Given the description of an element on the screen output the (x, y) to click on. 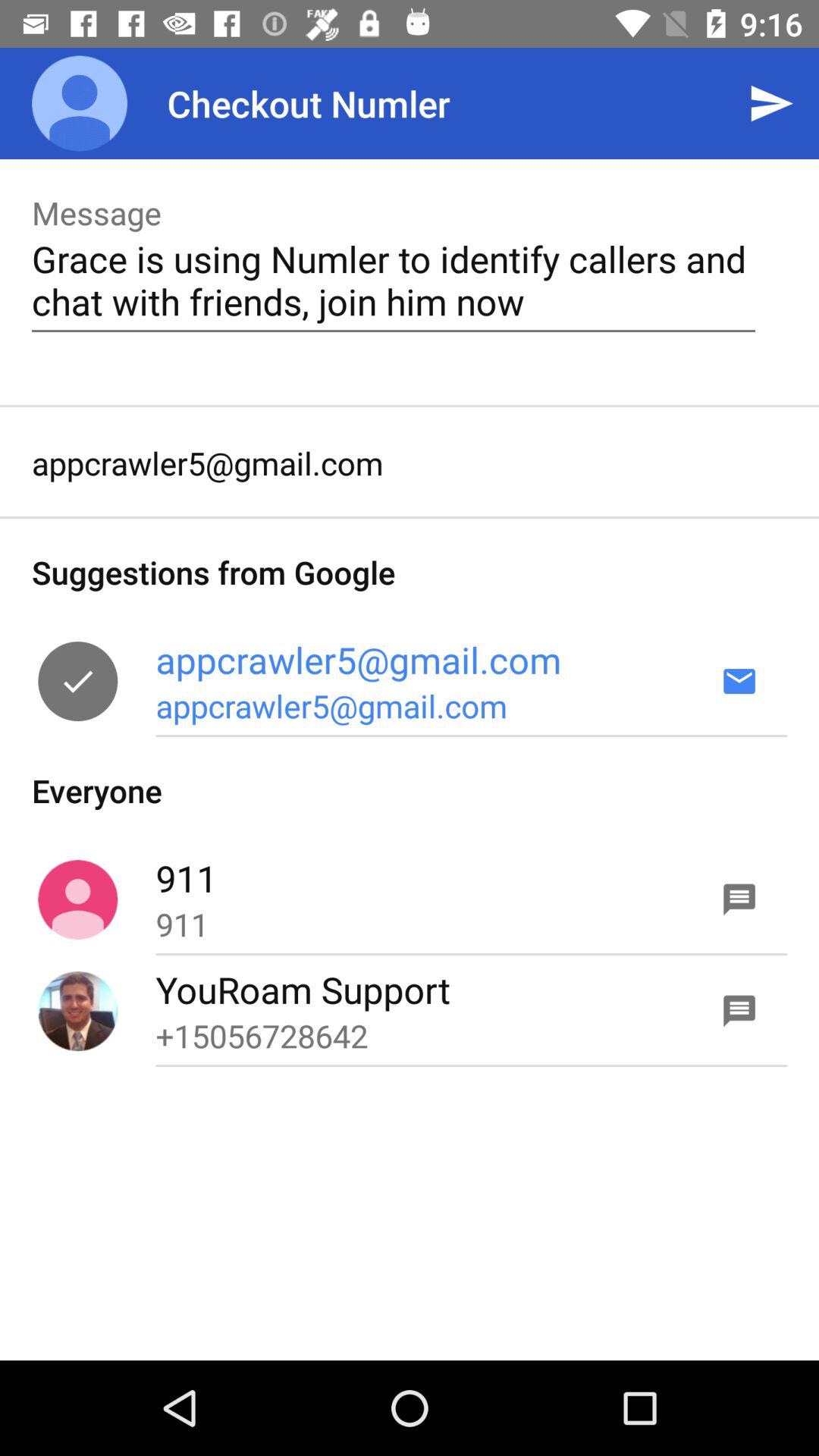
select the item next to checkout numler item (79, 103)
